Given the description of an element on the screen output the (x, y) to click on. 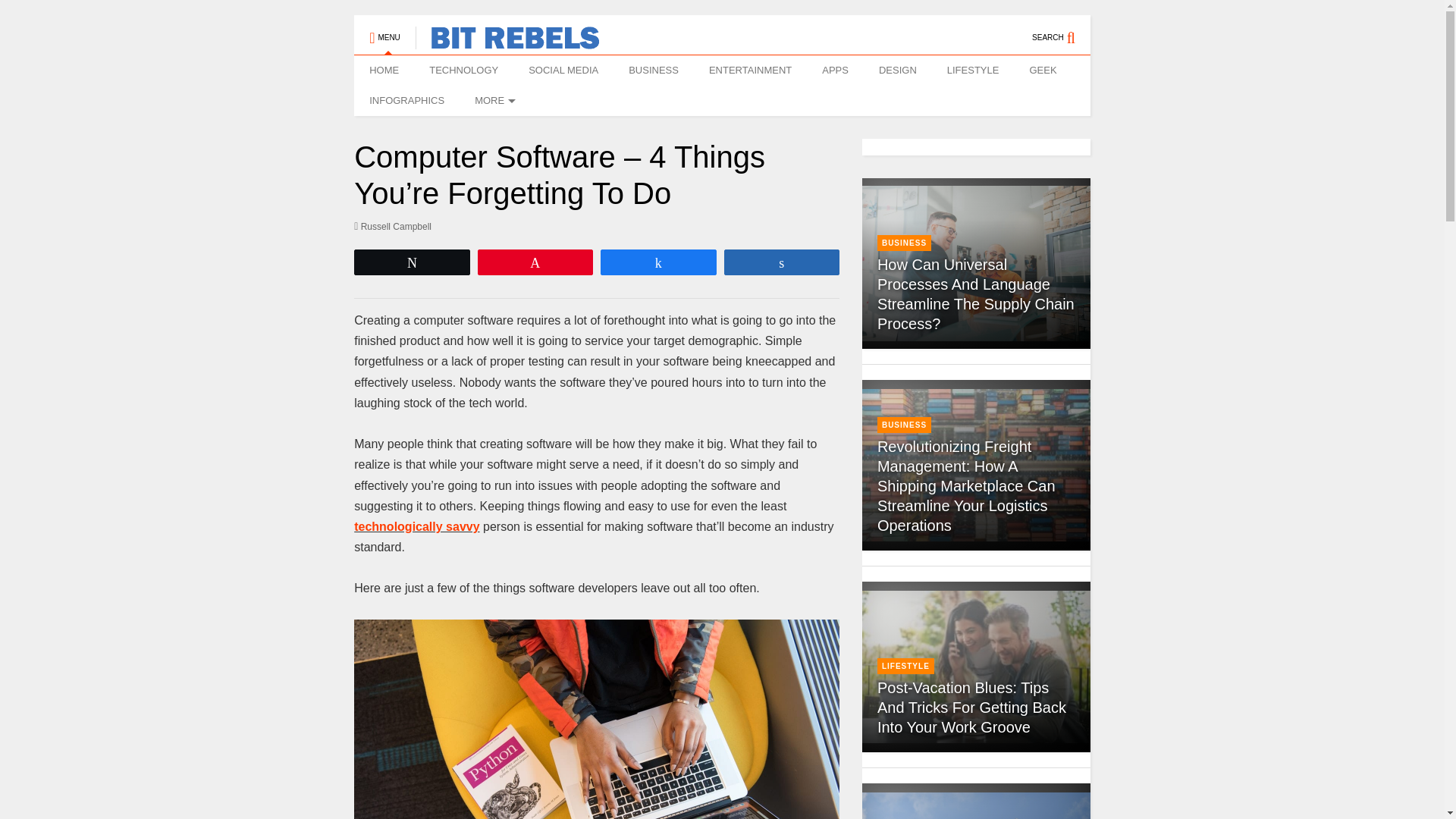
HOME (383, 70)
Russell Campbell (391, 226)
SEARCH (1061, 30)
SOCIAL MEDIA (562, 70)
INFOGRAPHICS (406, 100)
LIFESTYLE (972, 70)
Russell Campbell (391, 226)
DESIGN (897, 70)
MENU (383, 30)
MORE (493, 100)
APPS (834, 70)
TECHNOLOGY (463, 70)
ENTERTAINMENT (750, 70)
